Given the description of an element on the screen output the (x, y) to click on. 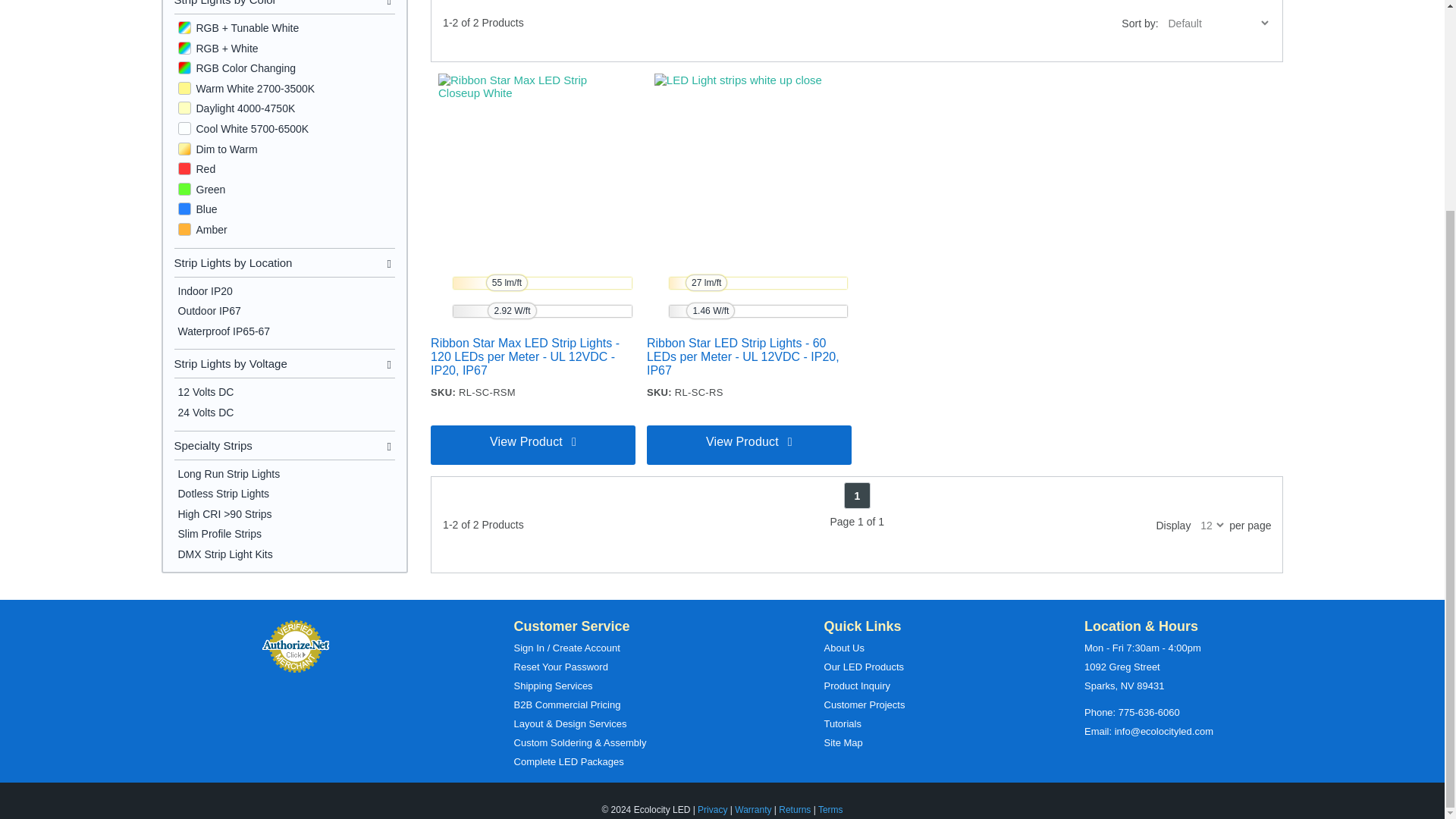
Brightness (506, 282)
Instagram (718, 797)
Watts (511, 310)
Watts (710, 310)
Brightness (705, 282)
